Given the description of an element on the screen output the (x, y) to click on. 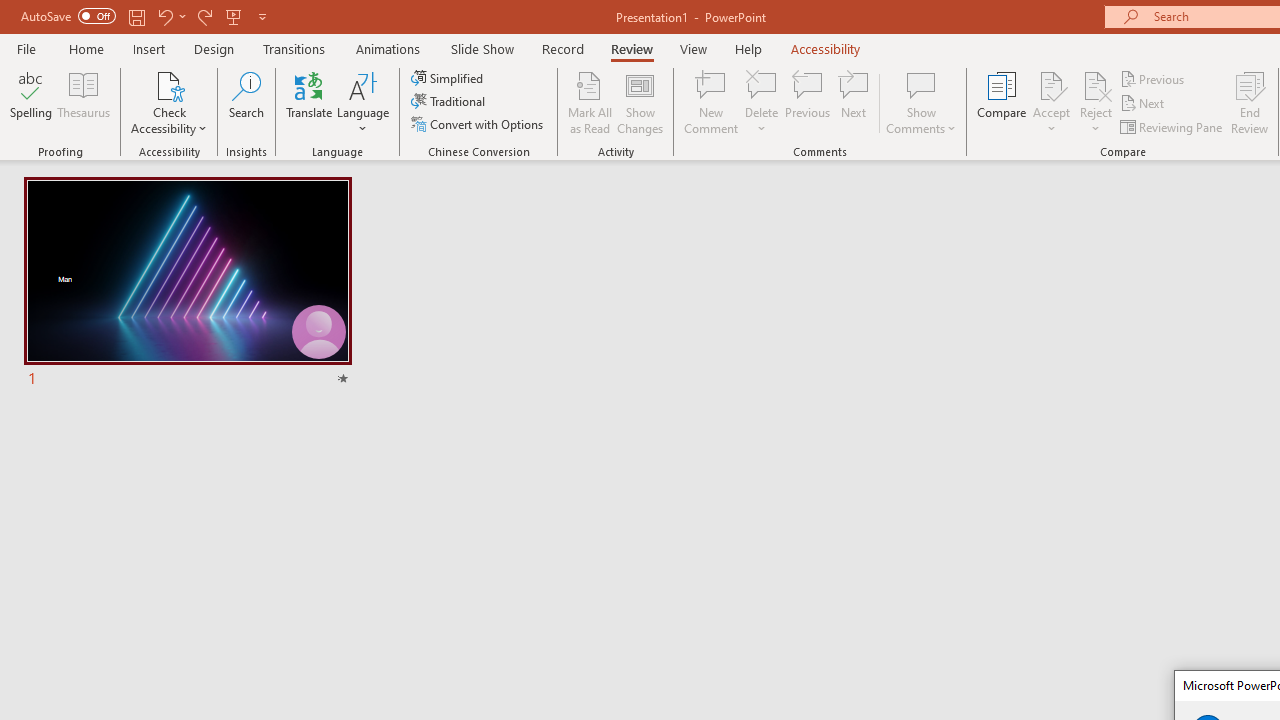
Accept Change (1051, 84)
Reject (1096, 102)
Traditional (449, 101)
